Given the description of an element on the screen output the (x, y) to click on. 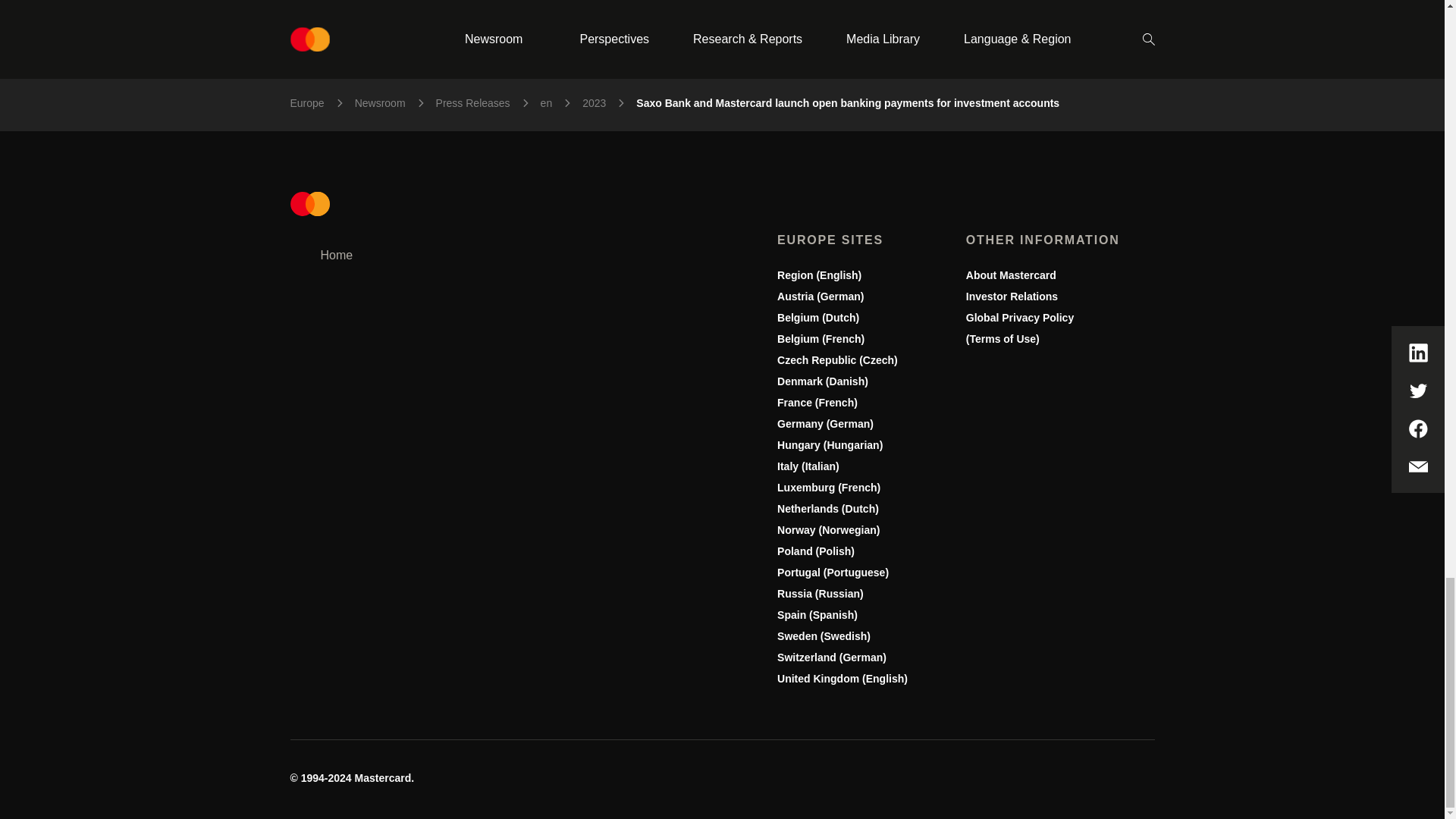
Instagram (1071, 779)
YouTube (1144, 779)
Twitter (1108, 779)
LinkedIn (1035, 779)
